Given the description of an element on the screen output the (x, y) to click on. 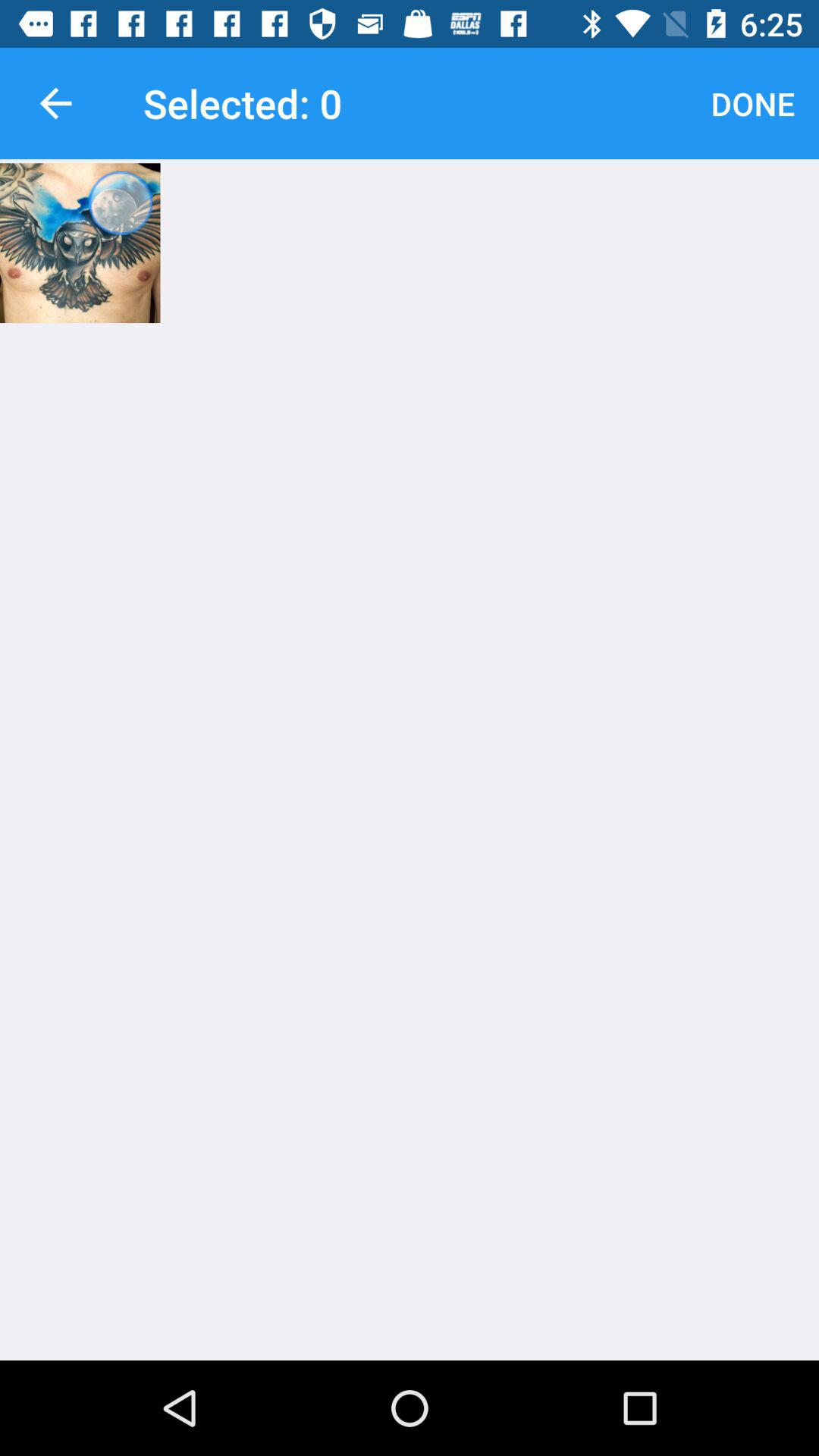
select the item to the right of the selected: 0 item (753, 103)
